Given the description of an element on the screen output the (x, y) to click on. 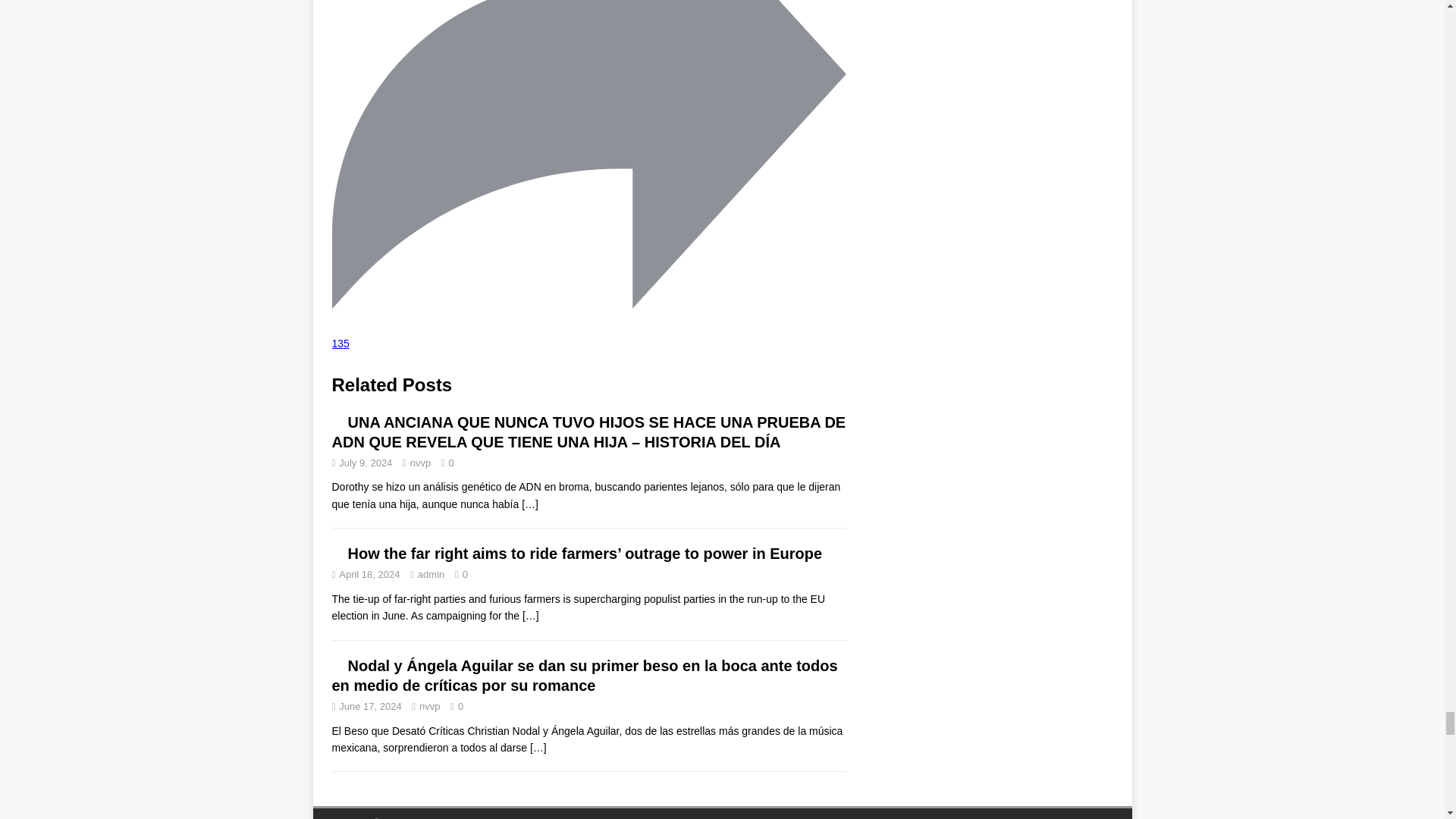
nvvp (420, 462)
nvvp (429, 706)
admin (430, 573)
